Given the description of an element on the screen output the (x, y) to click on. 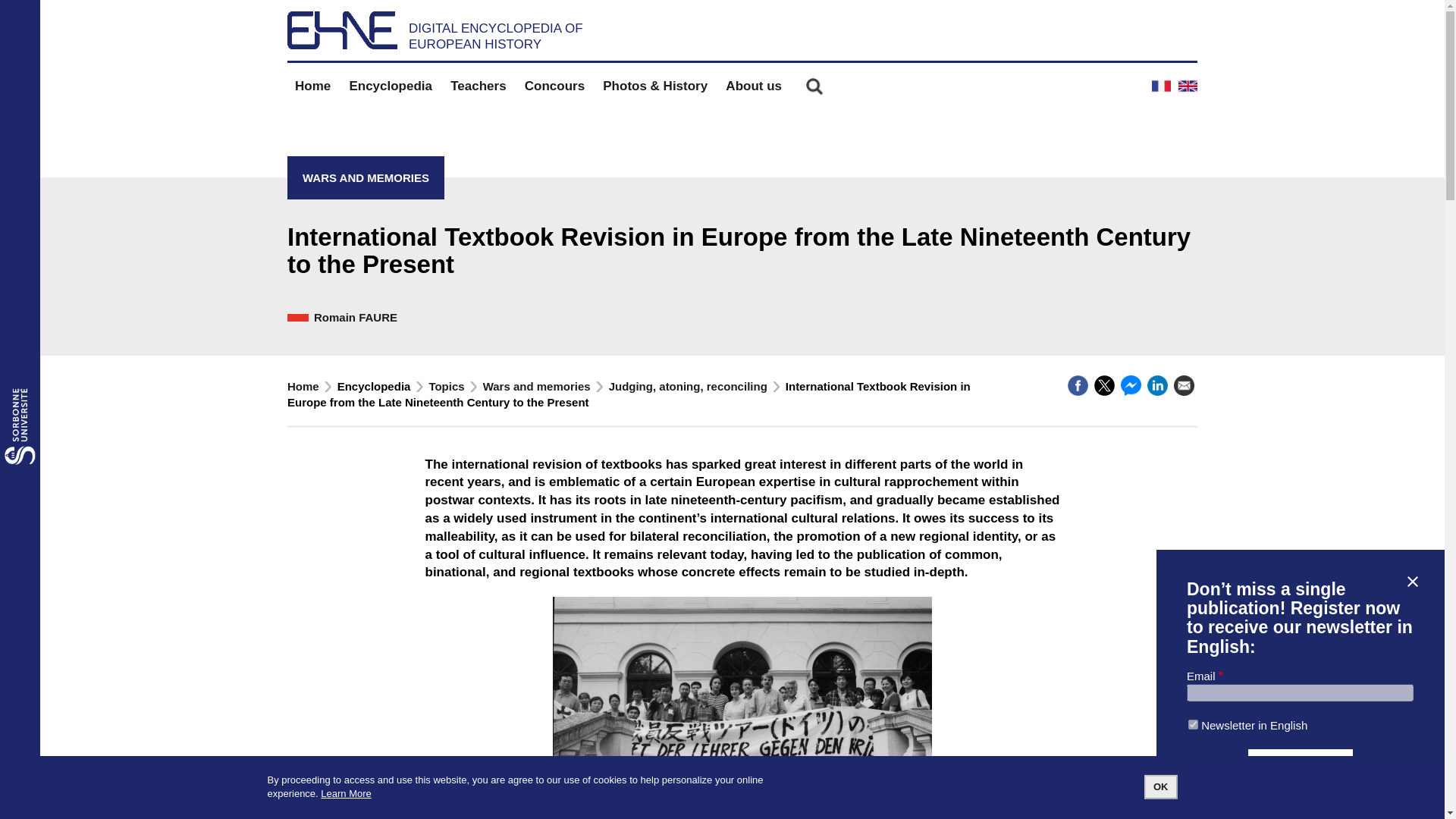
Anglais (1186, 85)
Romain FAURE (355, 317)
WARS AND MEMORIES (365, 177)
Home (312, 85)
French (1160, 85)
Topics (446, 386)
Teachers (477, 85)
Subscribe (1299, 763)
